Given the description of an element on the screen output the (x, y) to click on. 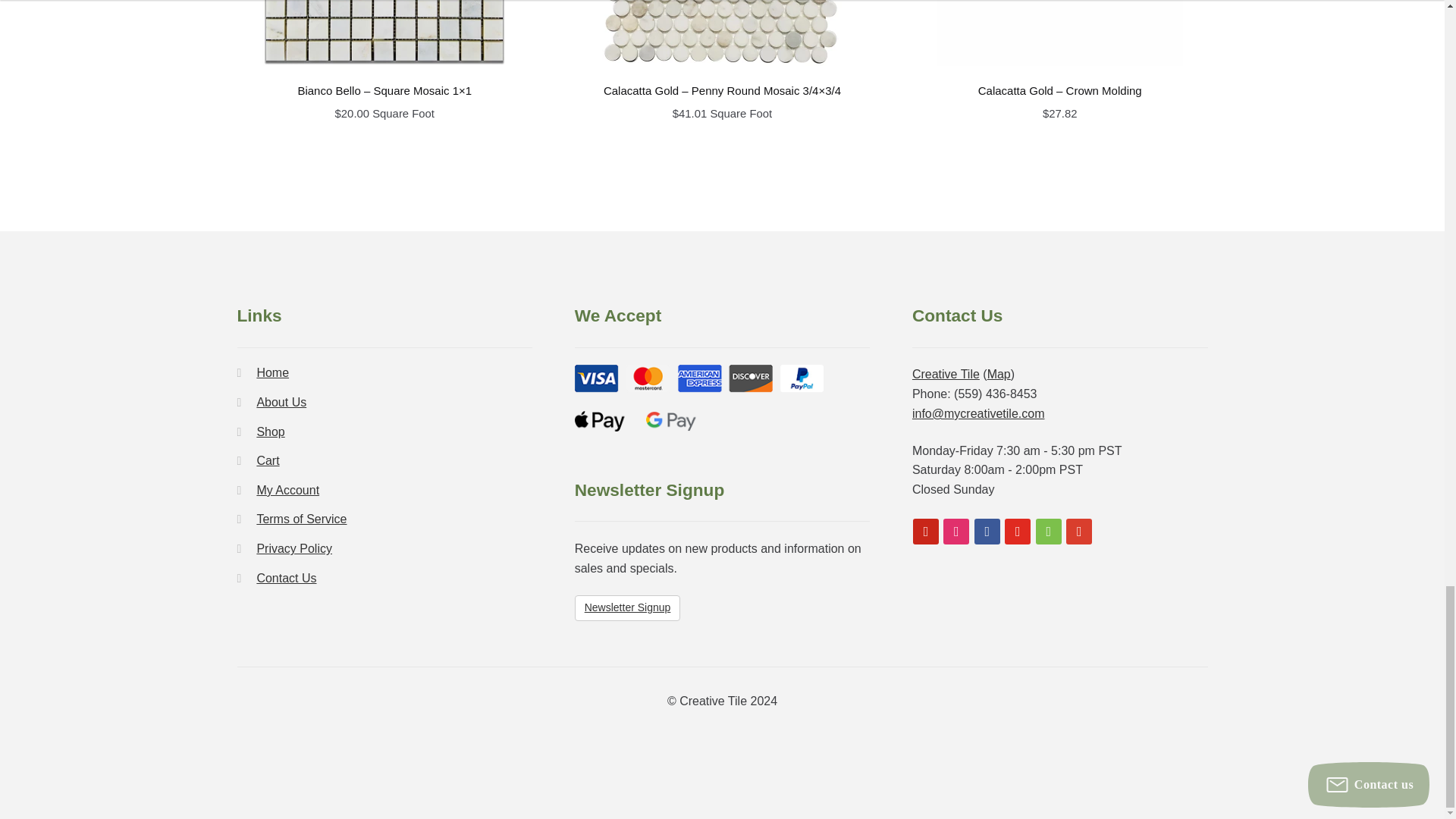
Facebook (987, 530)
Default Label (1048, 530)
Default Label (1078, 530)
Default Label (1017, 530)
Default Label (925, 530)
Default Label (956, 530)
